Given the description of an element on the screen output the (x, y) to click on. 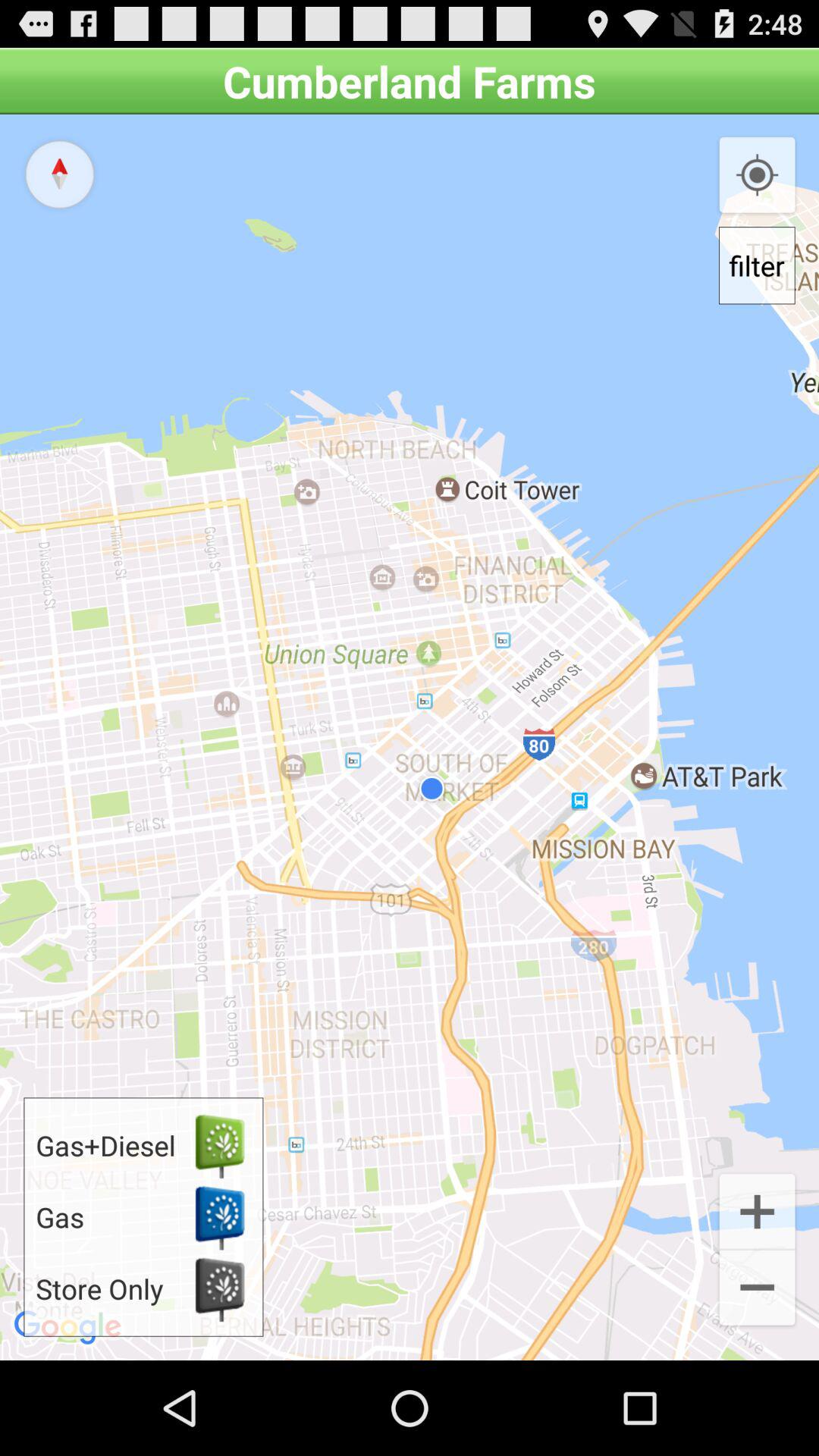
tap filter (756, 265)
